Given the description of an element on the screen output the (x, y) to click on. 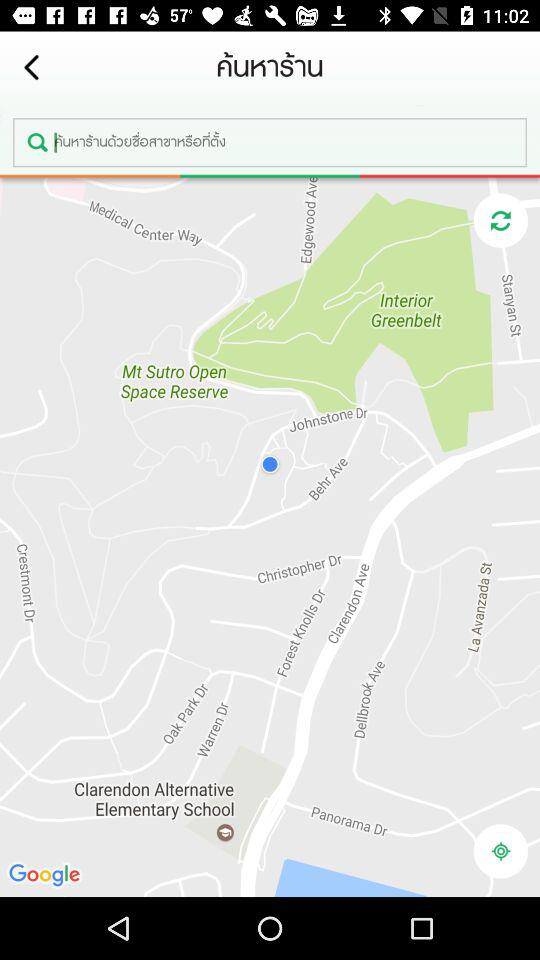
your neighborhood (500, 851)
